Given the description of an element on the screen output the (x, y) to click on. 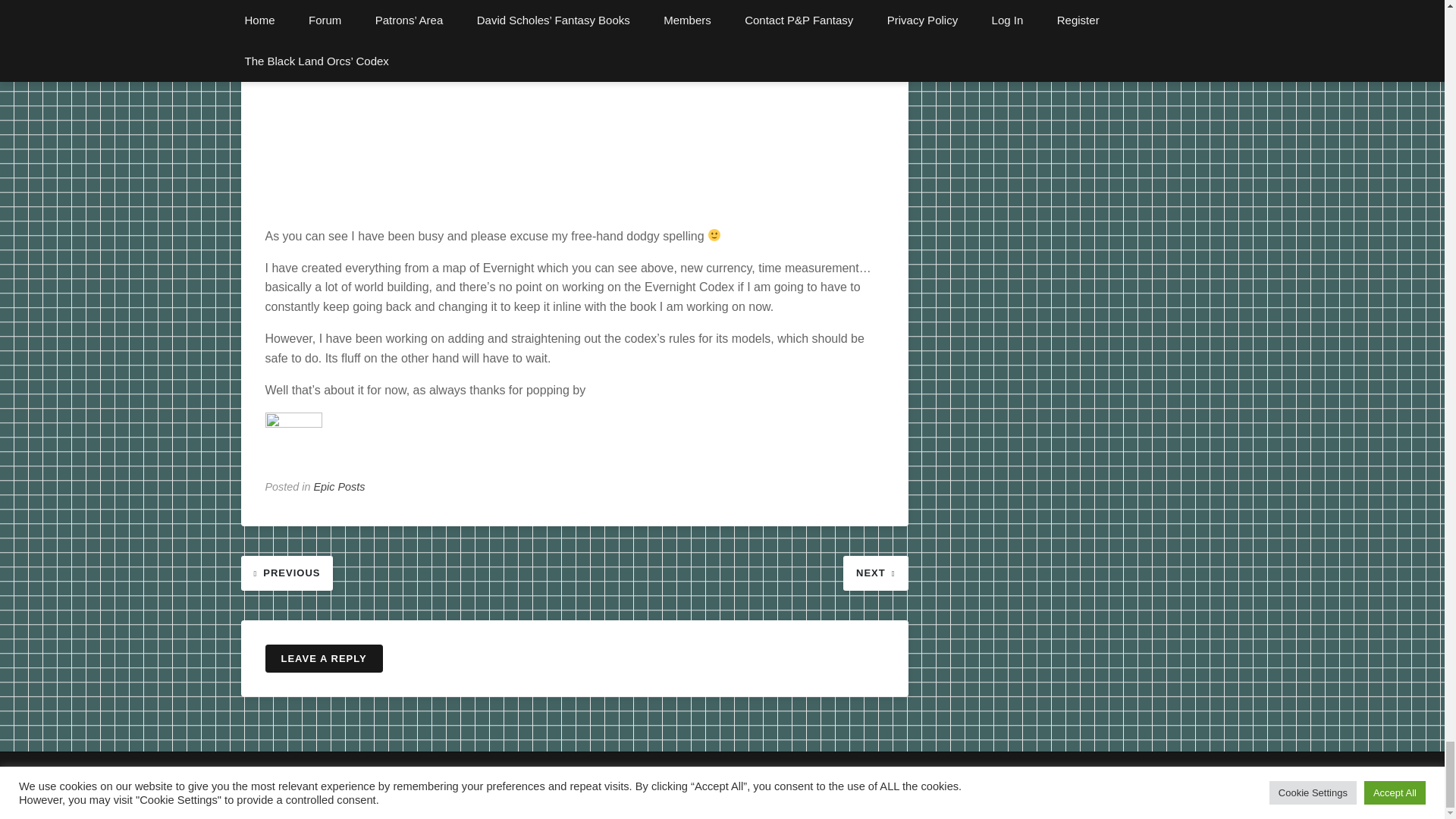
PREVIOUS (287, 571)
NEXT (875, 571)
LEAVE A REPLY (323, 658)
Epic Posts (339, 486)
